Given the description of an element on the screen output the (x, y) to click on. 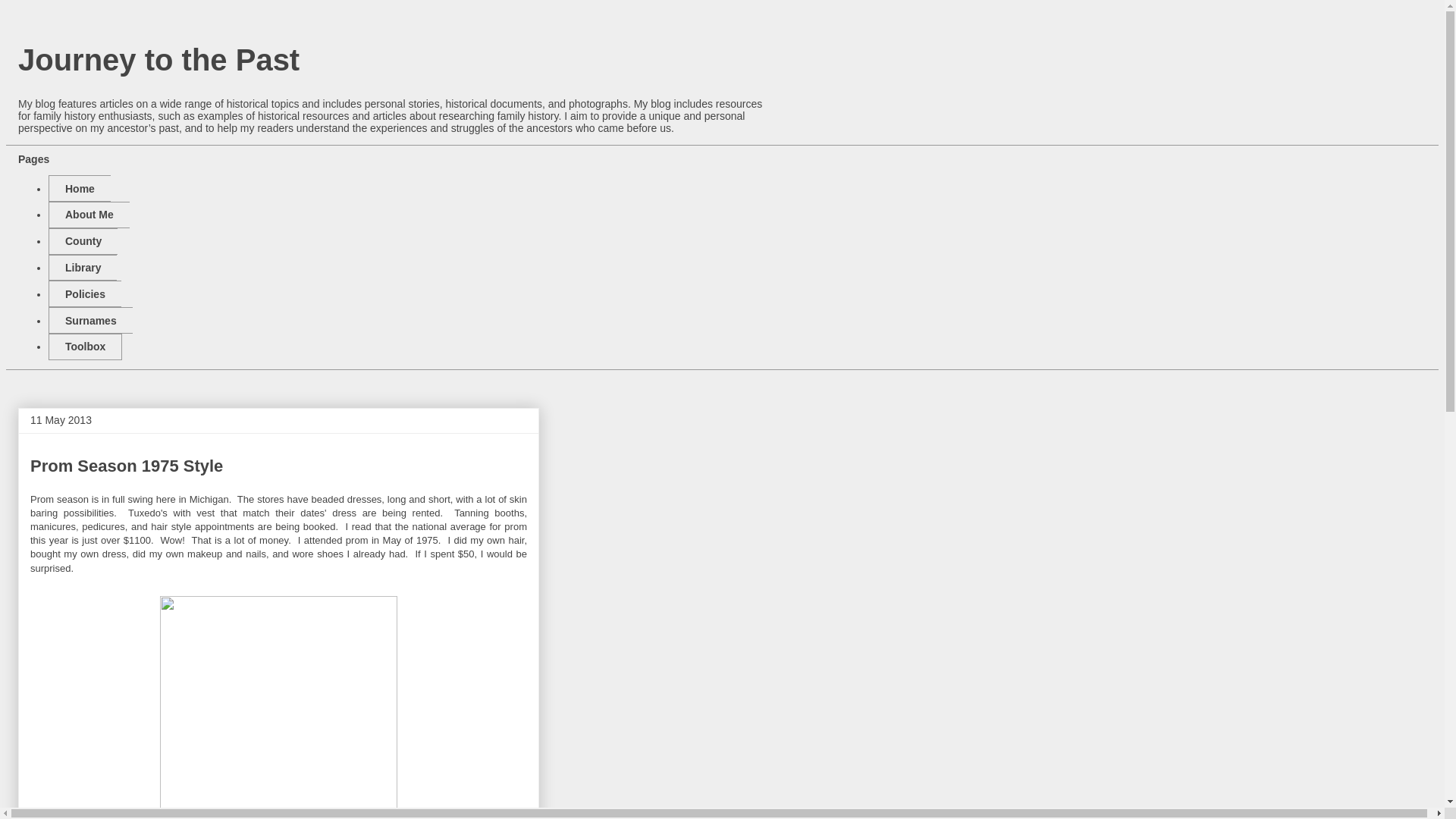
Journey to the Past (158, 59)
Library (82, 267)
Surnames (90, 320)
County (82, 241)
Toolbox (85, 346)
Home (79, 188)
About Me (88, 214)
Policies (84, 293)
